Given the description of an element on the screen output the (x, y) to click on. 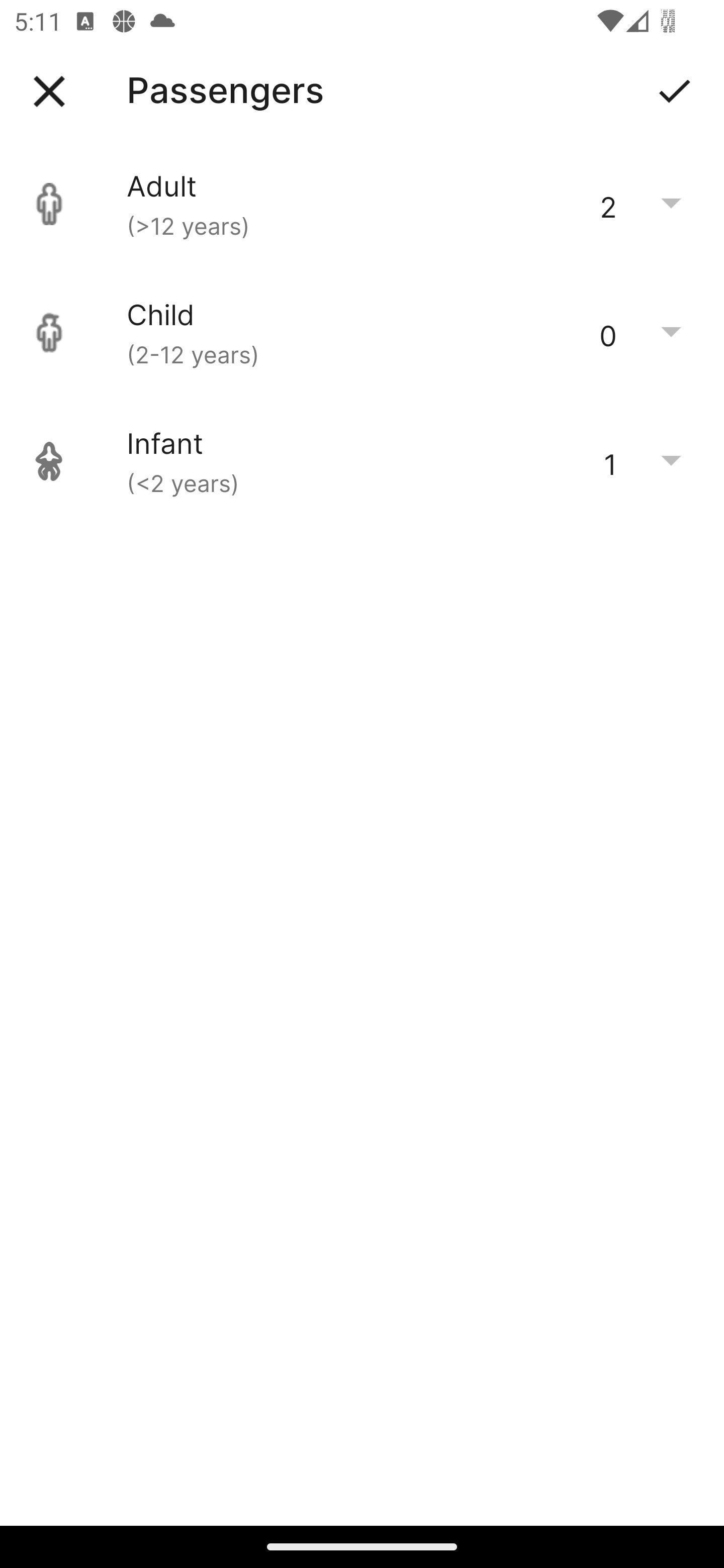
Adult (>12 years) 2 (362, 204)
Child (2-12 years) 0 (362, 332)
Infant (<2 years) 1 (362, 461)
